Given the description of an element on the screen output the (x, y) to click on. 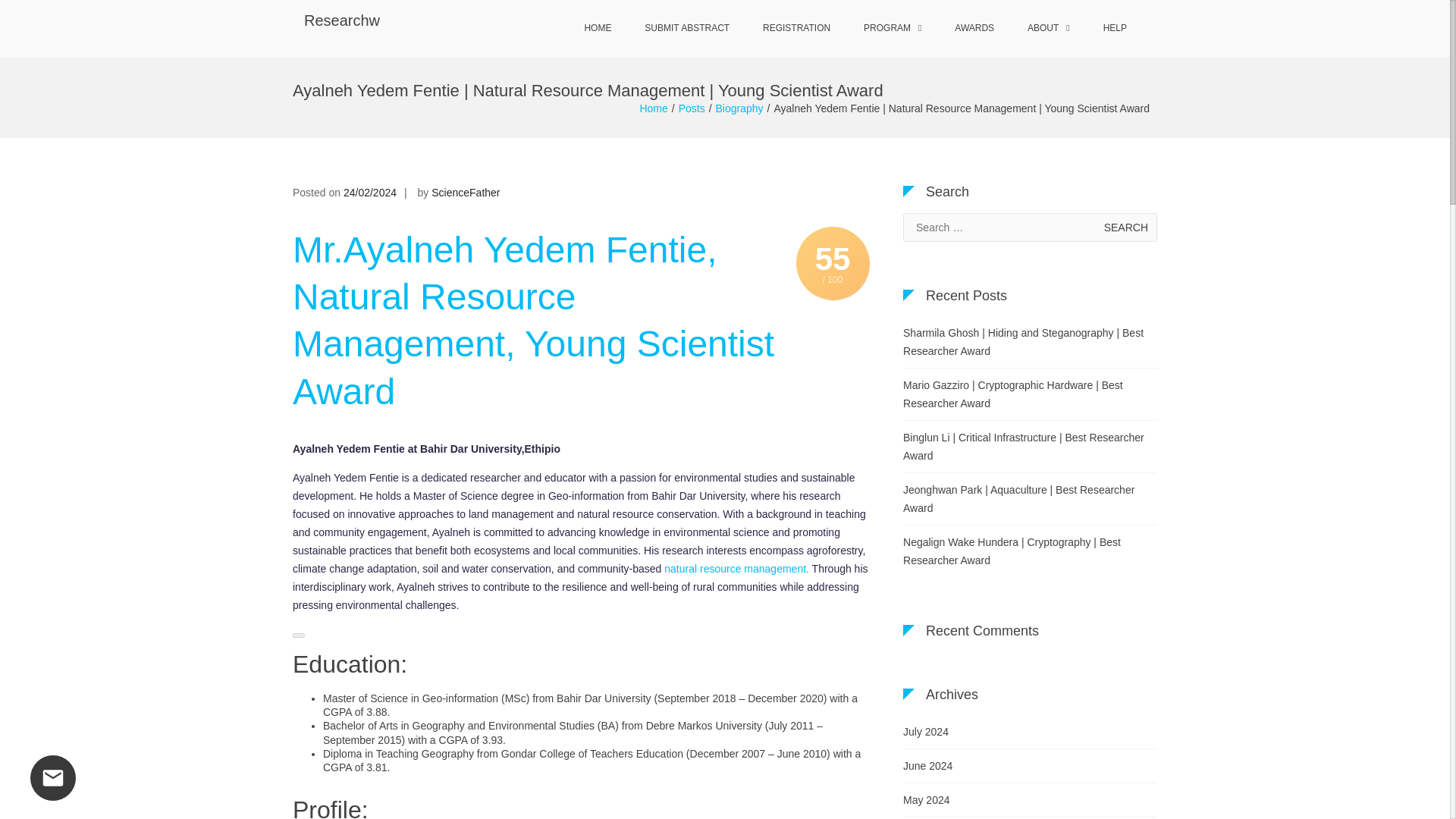
Biography (739, 108)
natural resource management. (736, 568)
Posts (691, 108)
Search (1125, 226)
Home (652, 108)
SUBMIT ABSTRACT (686, 28)
HOME (597, 28)
Home (652, 108)
ABOUT (1047, 28)
Researchw (342, 20)
Posts (691, 108)
ScienceFather (464, 192)
Leave a message (52, 777)
Search (1125, 226)
